Given the description of an element on the screen output the (x, y) to click on. 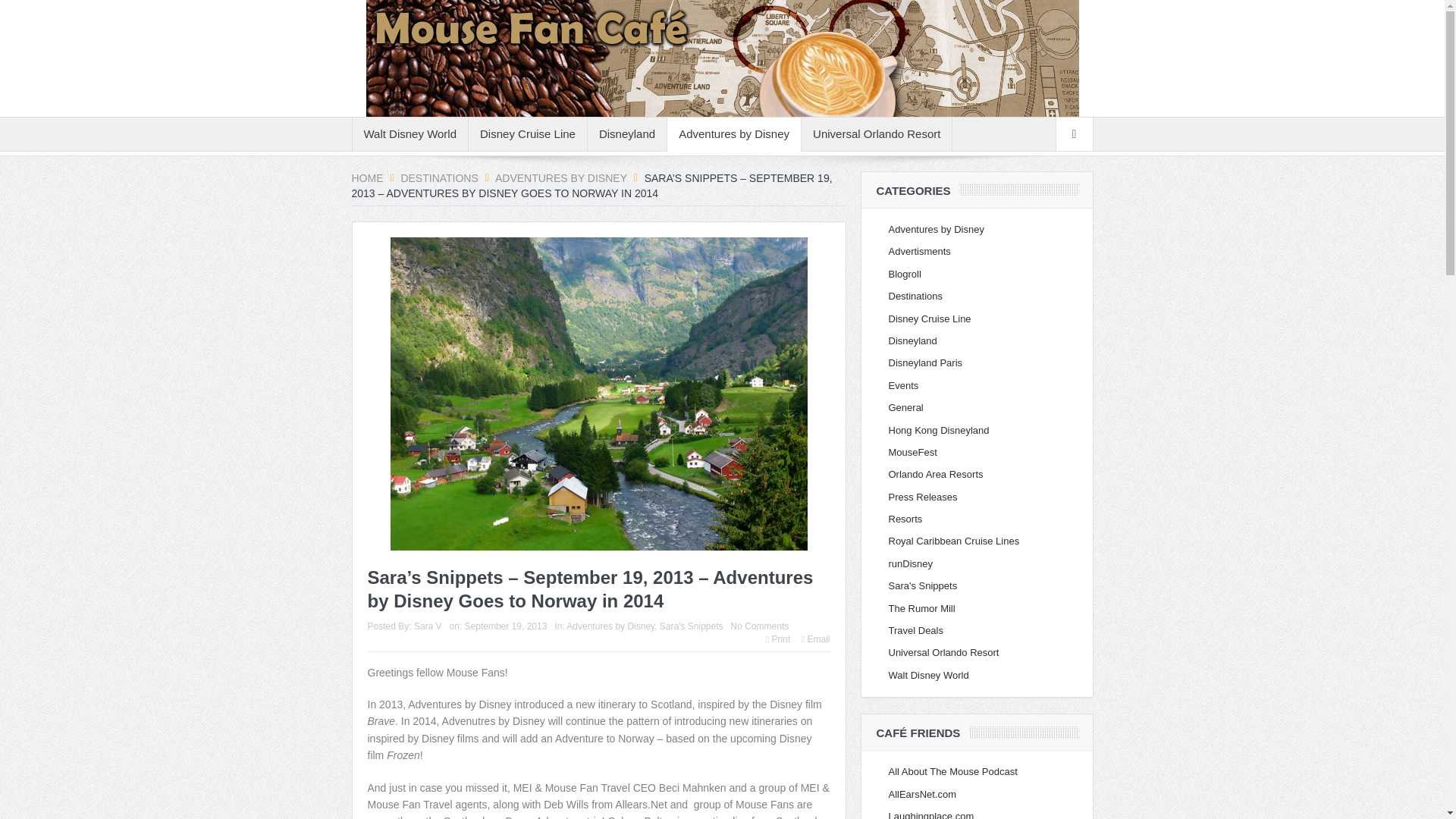
HOME (368, 177)
Adventures by Disney (561, 177)
View all posts in Sara's Snippets (691, 625)
Adventures by Disney (733, 133)
DESTINATIONS (438, 177)
Destinations (438, 177)
Disney Cruise Line (527, 133)
Disneyland (627, 133)
View all posts in Adventures by Disney (609, 625)
Walt Disney World (409, 133)
